Given the description of an element on the screen output the (x, y) to click on. 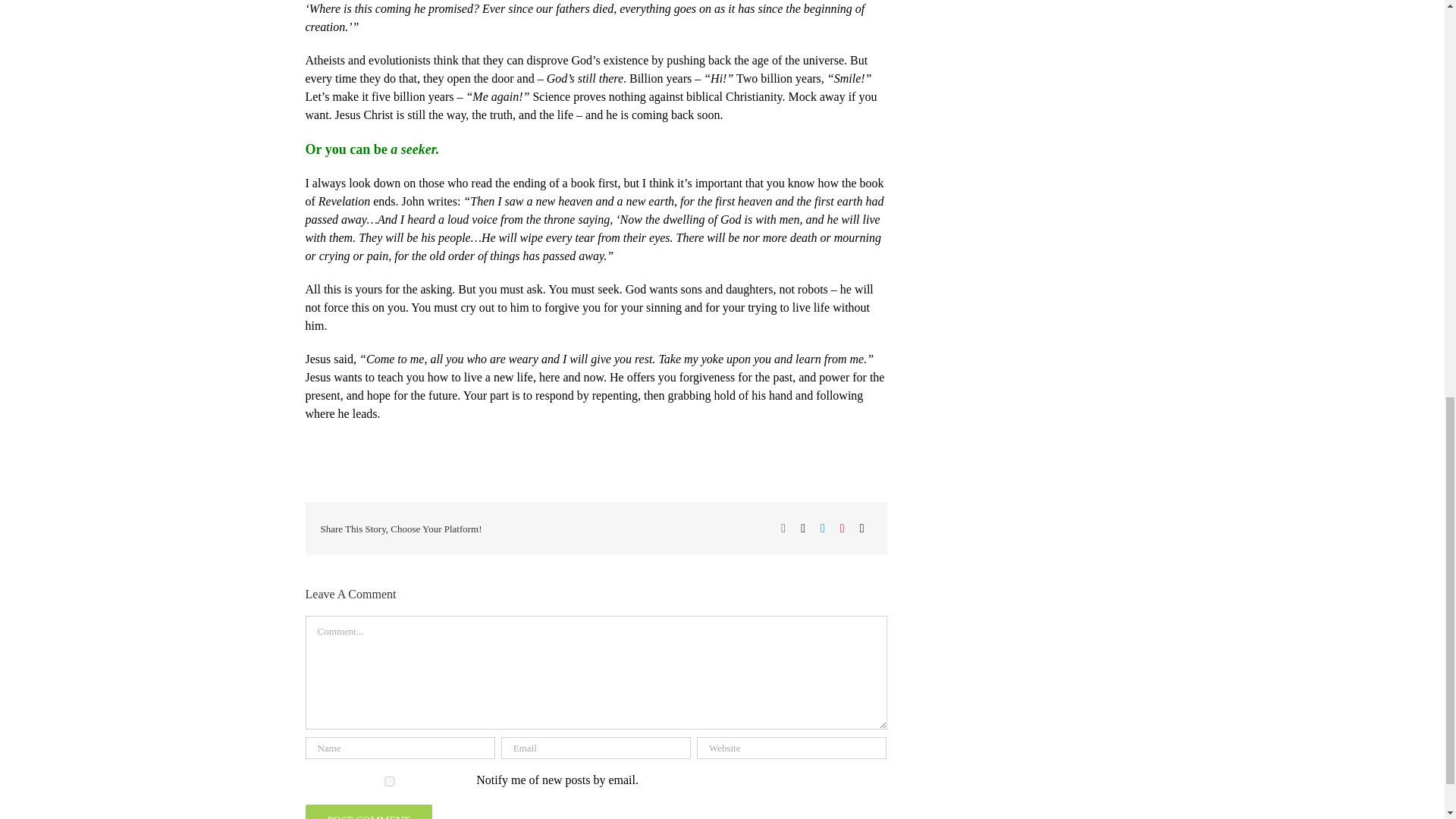
Post Comment (367, 811)
Twitter (802, 528)
Pinterest (841, 528)
Facebook (783, 528)
LinkedIn (822, 528)
subscribe (388, 781)
Post Comment (367, 811)
Email (861, 528)
